Given the description of an element on the screen output the (x, y) to click on. 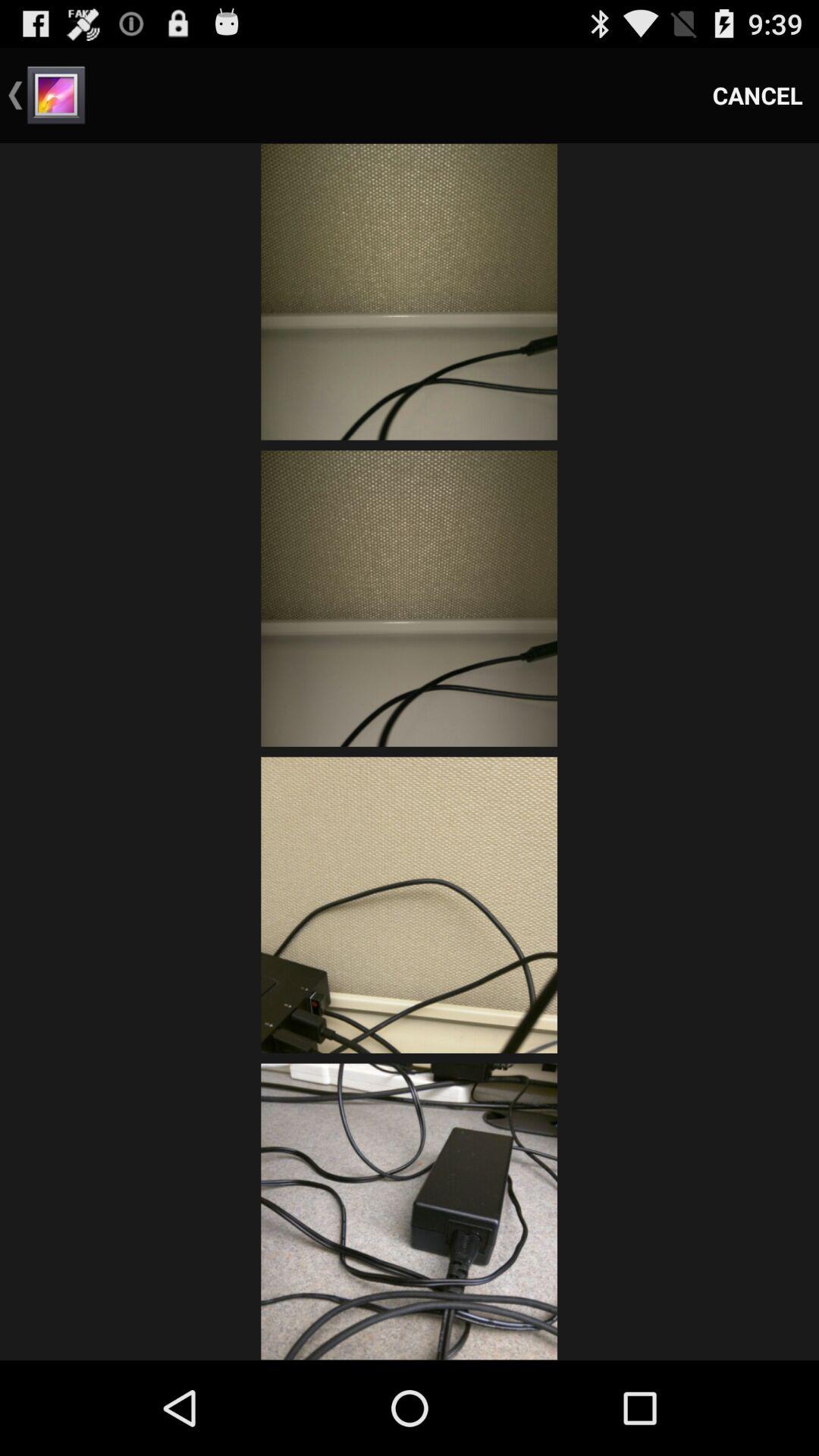
select cancel icon (757, 95)
